Given the description of an element on the screen output the (x, y) to click on. 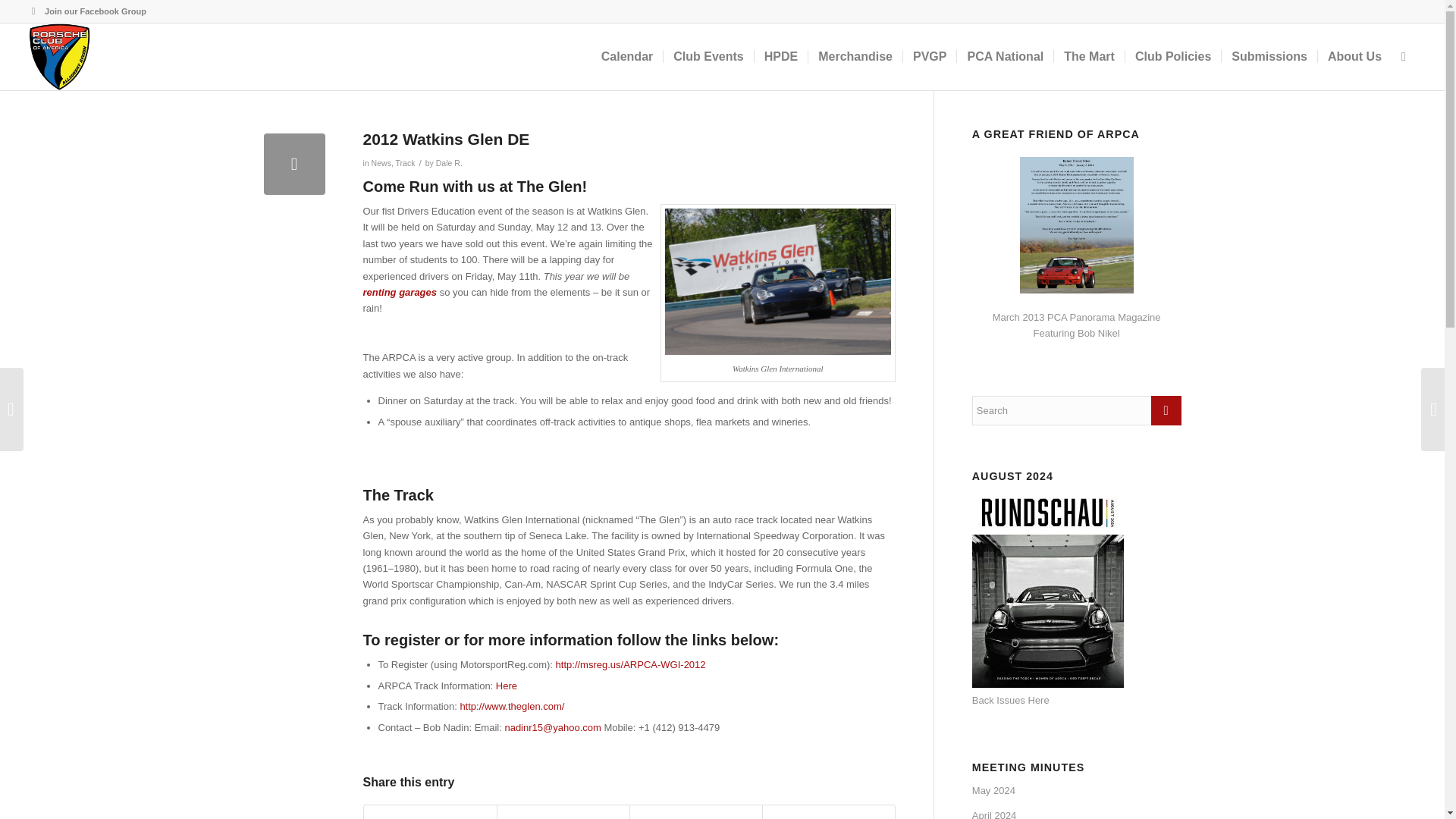
DE WGI 2010 (778, 281)
2012 Watkins Glen DE (293, 163)
Posts by Dale R. (449, 162)
Calendar (626, 56)
Club Policies (1172, 56)
Supporting Materials (506, 685)
Facebook (33, 11)
Submissions (1269, 56)
PCA National (1004, 56)
Club Events (707, 56)
